Given the description of an element on the screen output the (x, y) to click on. 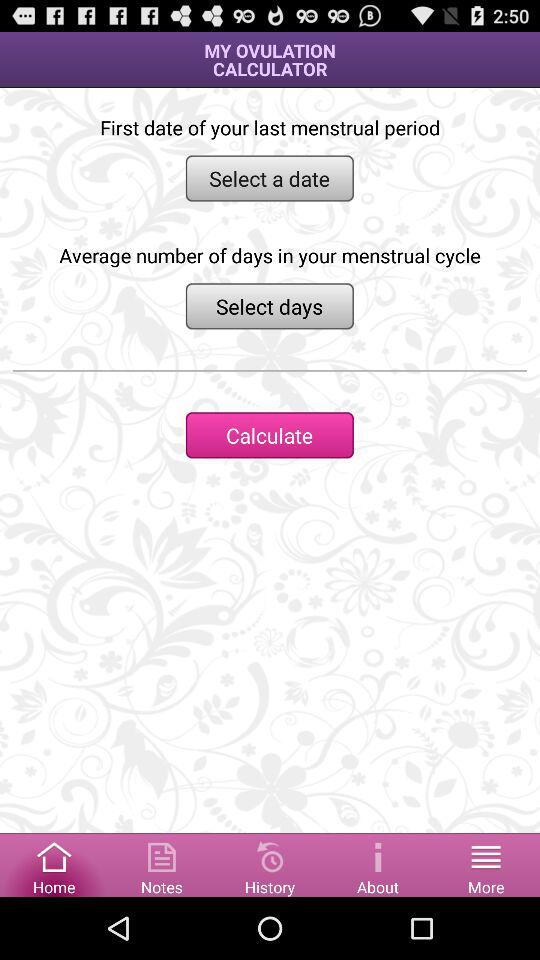
access notes (162, 864)
